Given the description of an element on the screen output the (x, y) to click on. 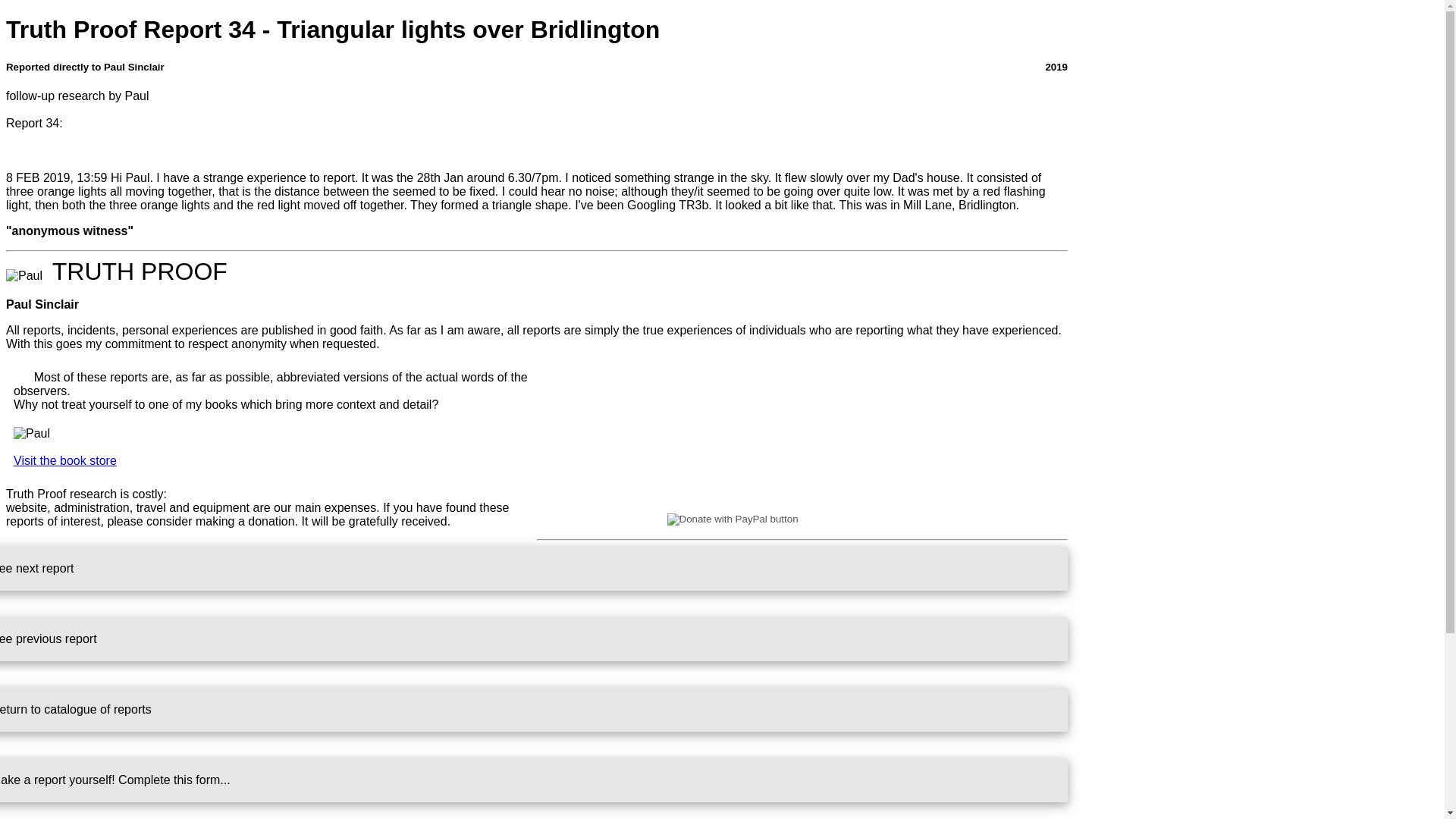
See next report (533, 568)
See previous report (533, 638)
PayPal - The safer, easier way to pay online! (801, 519)
Visit the book store (64, 460)
Make a report yourself! Complete this form... (533, 780)
Return to catalogue of reports (533, 709)
